Given the description of an element on the screen output the (x, y) to click on. 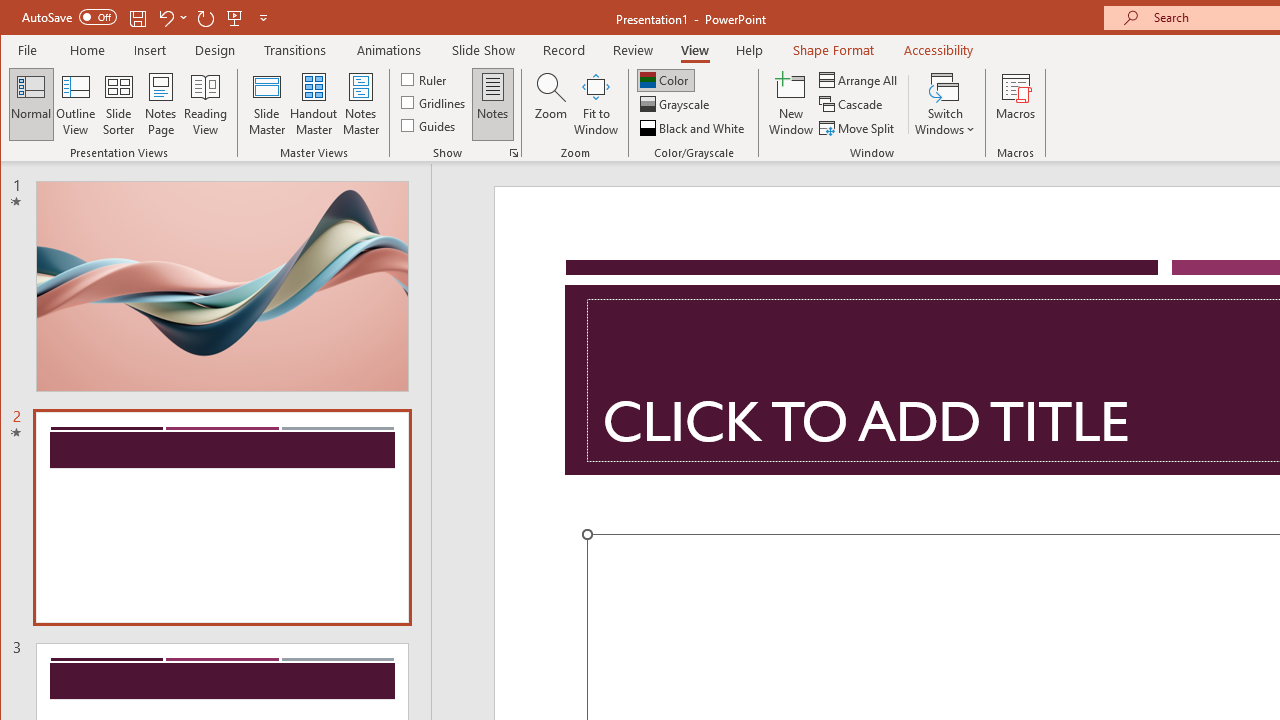
Notes (493, 104)
Fit to Window (596, 104)
Handout Master (314, 104)
Black and White (694, 127)
Outline View (75, 104)
New Window (791, 104)
